Given the description of an element on the screen output the (x, y) to click on. 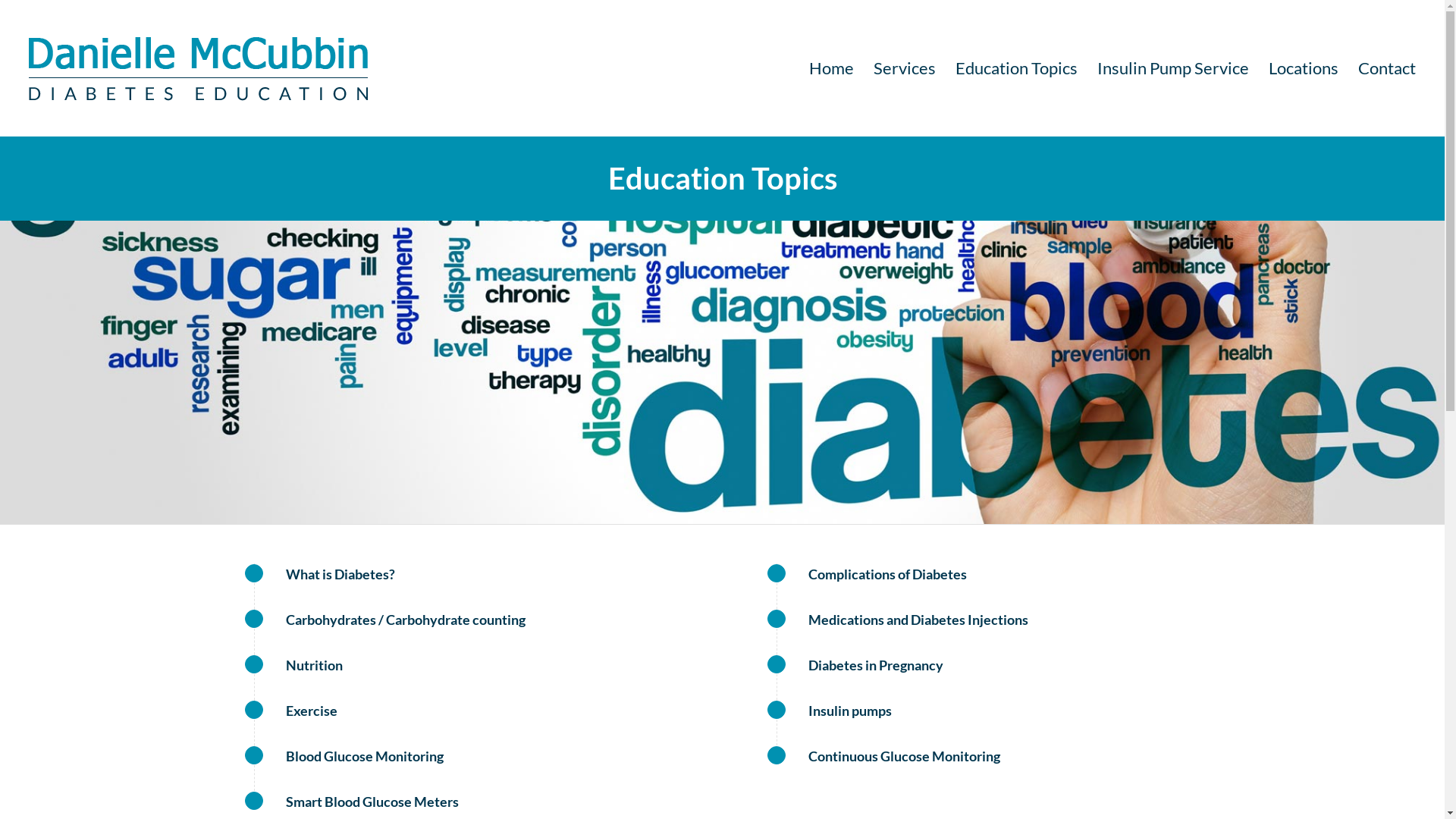
Blood Glucose Monitoring Element type: text (363, 755)
Continuous Glucose Monitoring Element type: hover (776, 755)
Contact Element type: text (1381, 68)
Complications of Diabetes Element type: hover (776, 573)
Carbohydrates / Carbohydrate counting Element type: text (404, 619)
Insulin pumps Element type: hover (776, 709)
Exercise Element type: hover (253, 709)
Nutrition Element type: text (313, 664)
What is Diabetes? Element type: text (339, 573)
Insulin pumps Element type: text (849, 710)
Home Element type: text (831, 68)
Complications of Diabetes Element type: text (887, 573)
Diabetes in Pregnancy Element type: hover (776, 664)
Smart Blood Glucose Meters Element type: hover (253, 800)
What is Diabetes? Element type: hover (253, 573)
Services Element type: text (904, 68)
Diabetes in Pregnancy Element type: text (875, 664)
Education Topics Element type: text (1016, 68)
Continuous Glucose Monitoring Element type: text (904, 755)
Medications and Diabetes Injections Element type: text (918, 619)
Exercise Element type: text (310, 710)
Nutrition Element type: hover (253, 664)
Smart Blood Glucose Meters Element type: text (371, 801)
Insulin Pump Service Element type: text (1172, 68)
Education Topics Element type: text (722, 178)
Carbohydrates / Carbohydrate counting Element type: hover (253, 618)
Medications and Diabetes Injections Element type: hover (776, 618)
Locations Element type: text (1303, 68)
Blood Glucose Monitoring Element type: hover (253, 755)
